Given the description of an element on the screen output the (x, y) to click on. 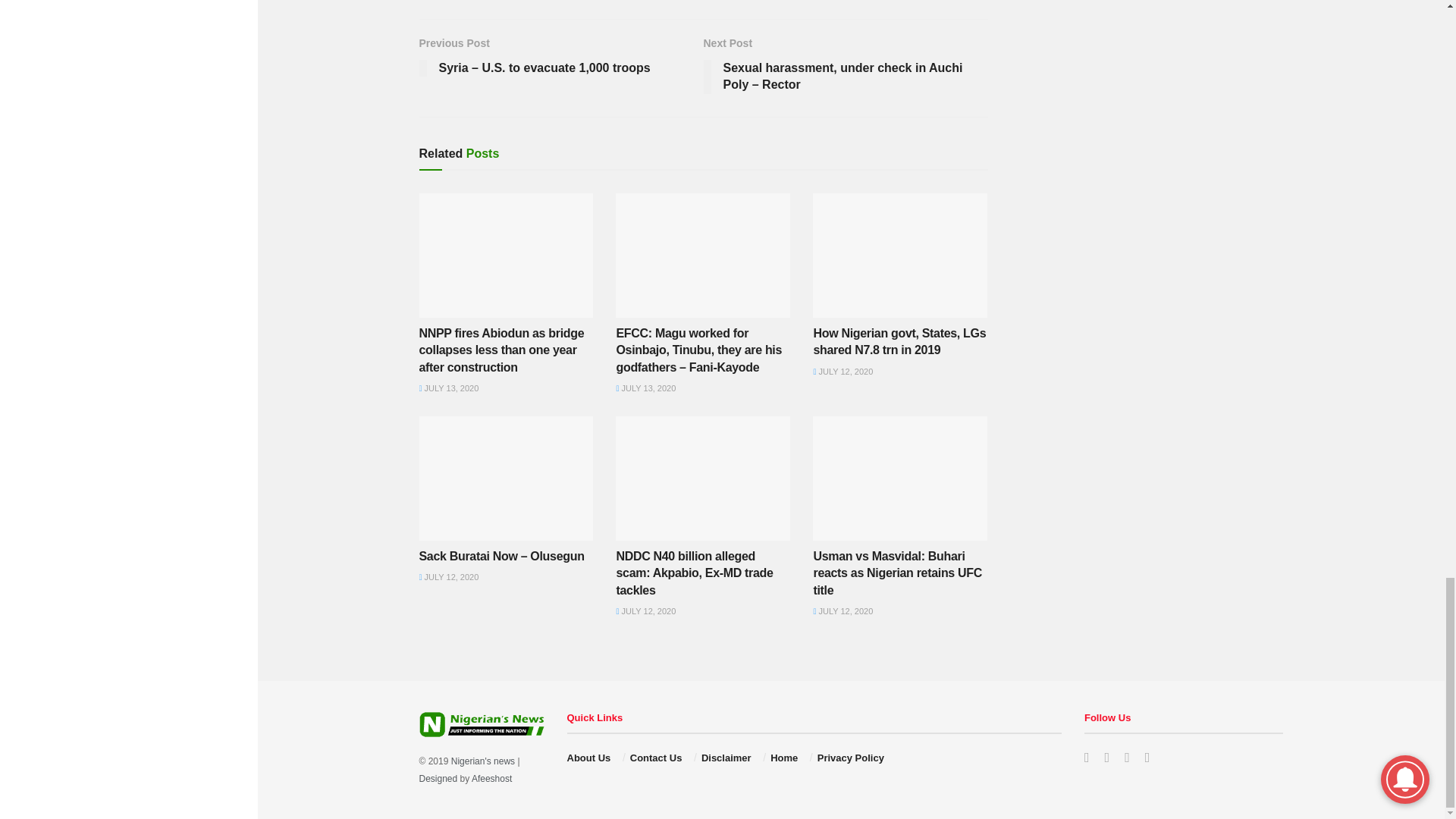
Cheap Web Hosting Company in Nigeria  (491, 778)
Nigerian's news (483, 760)
Website Design in Nigeria (438, 778)
